Given the description of an element on the screen output the (x, y) to click on. 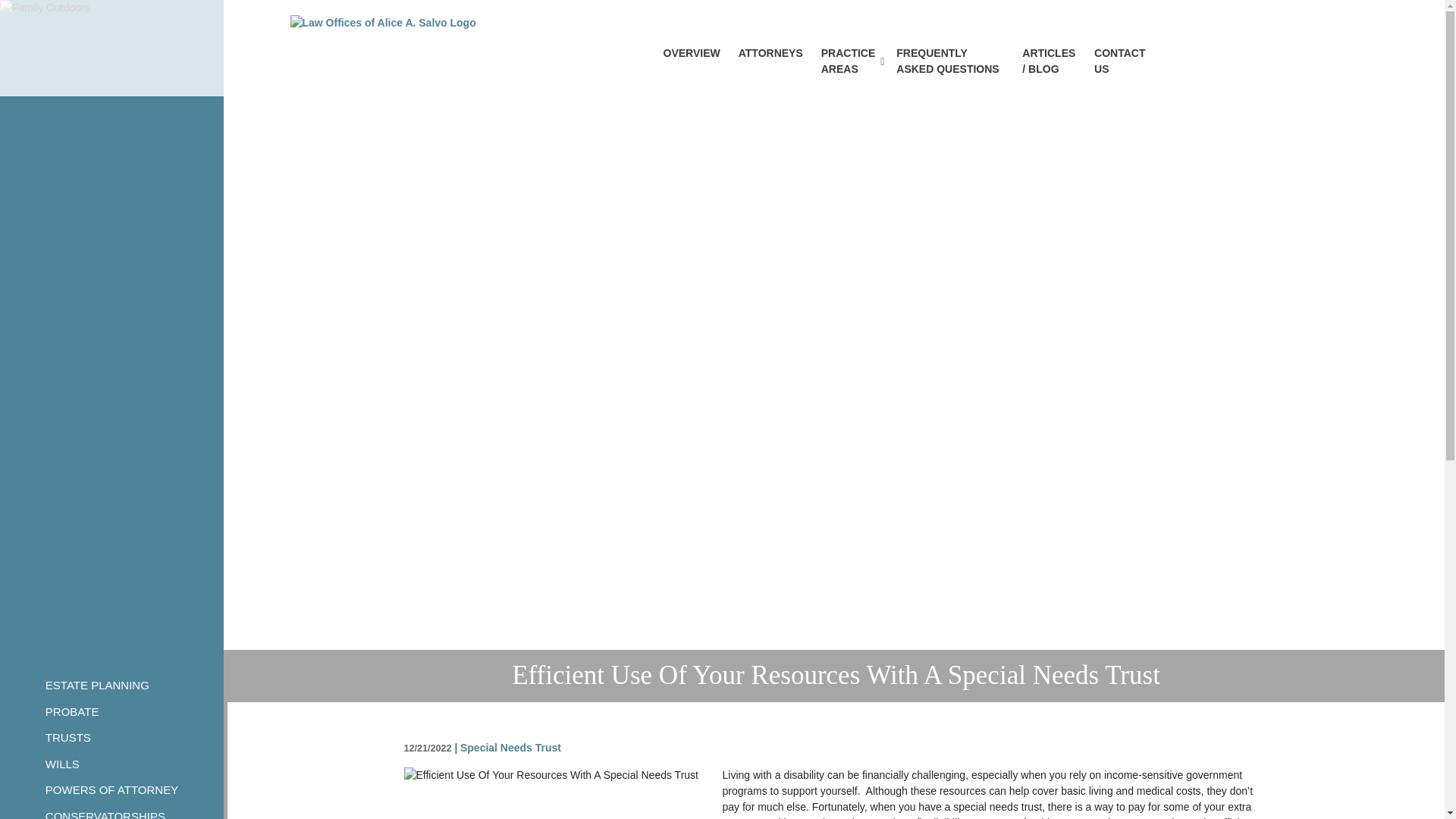
OVERVIEW (691, 53)
PRACTICE AREAS (848, 61)
CONTACT US (1119, 61)
FREQUENTLY ASKED QUESTIONS (949, 61)
ATTORNEYS (770, 53)
Back to Home (471, 48)
